Given the description of an element on the screen output the (x, y) to click on. 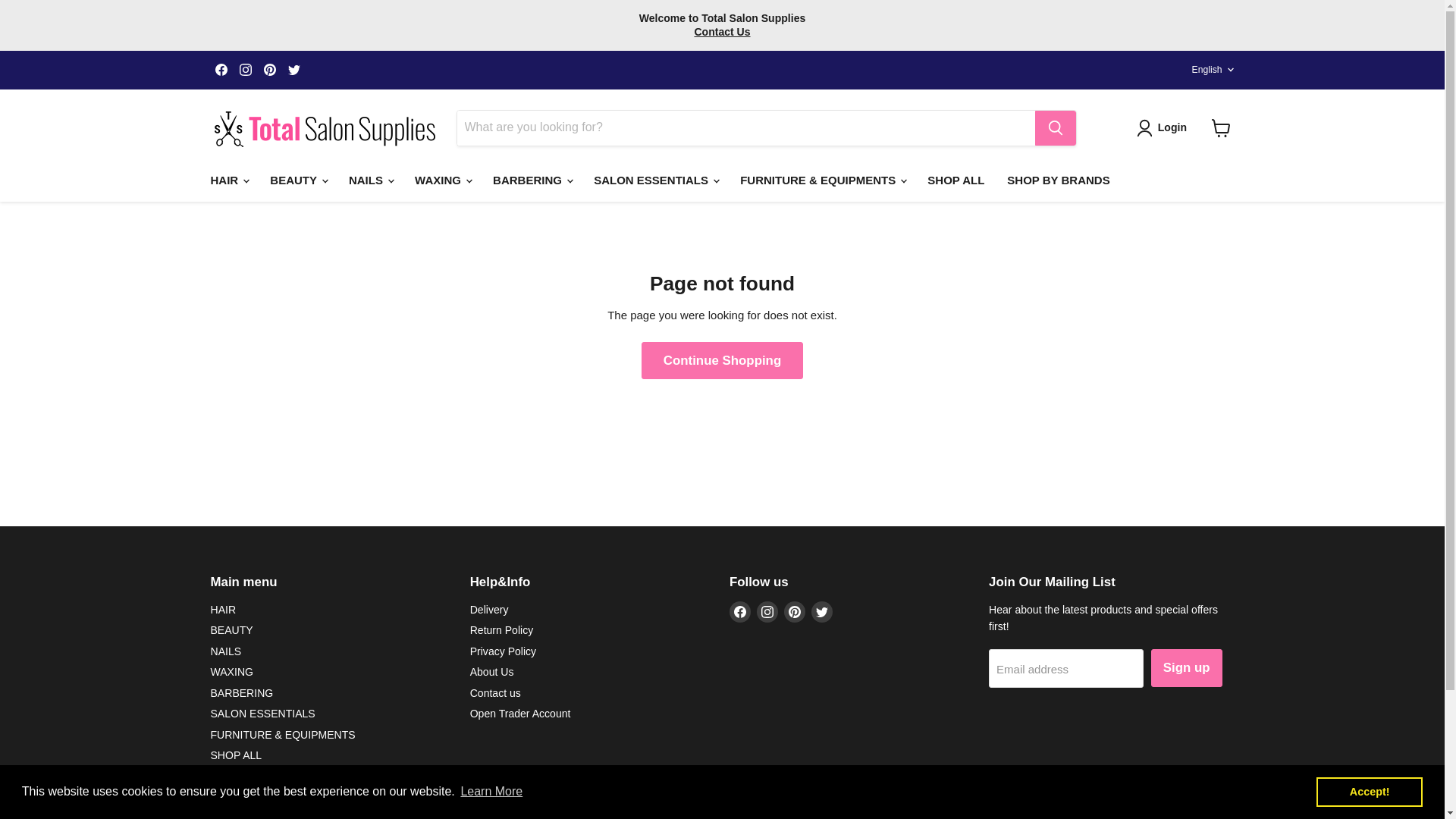
Find us on Instagram (245, 69)
Find us on Facebook (221, 69)
Learn More (491, 791)
Find us on Twitter (293, 69)
Find us on Pinterest (270, 69)
Twitter (293, 69)
Twitter (821, 611)
Facebook (740, 611)
Accept! (1369, 791)
View cart (1221, 127)
Login (1164, 127)
Contact Us (721, 31)
Instagram (245, 69)
Facebook (221, 69)
English (1209, 69)
